Given the description of an element on the screen output the (x, y) to click on. 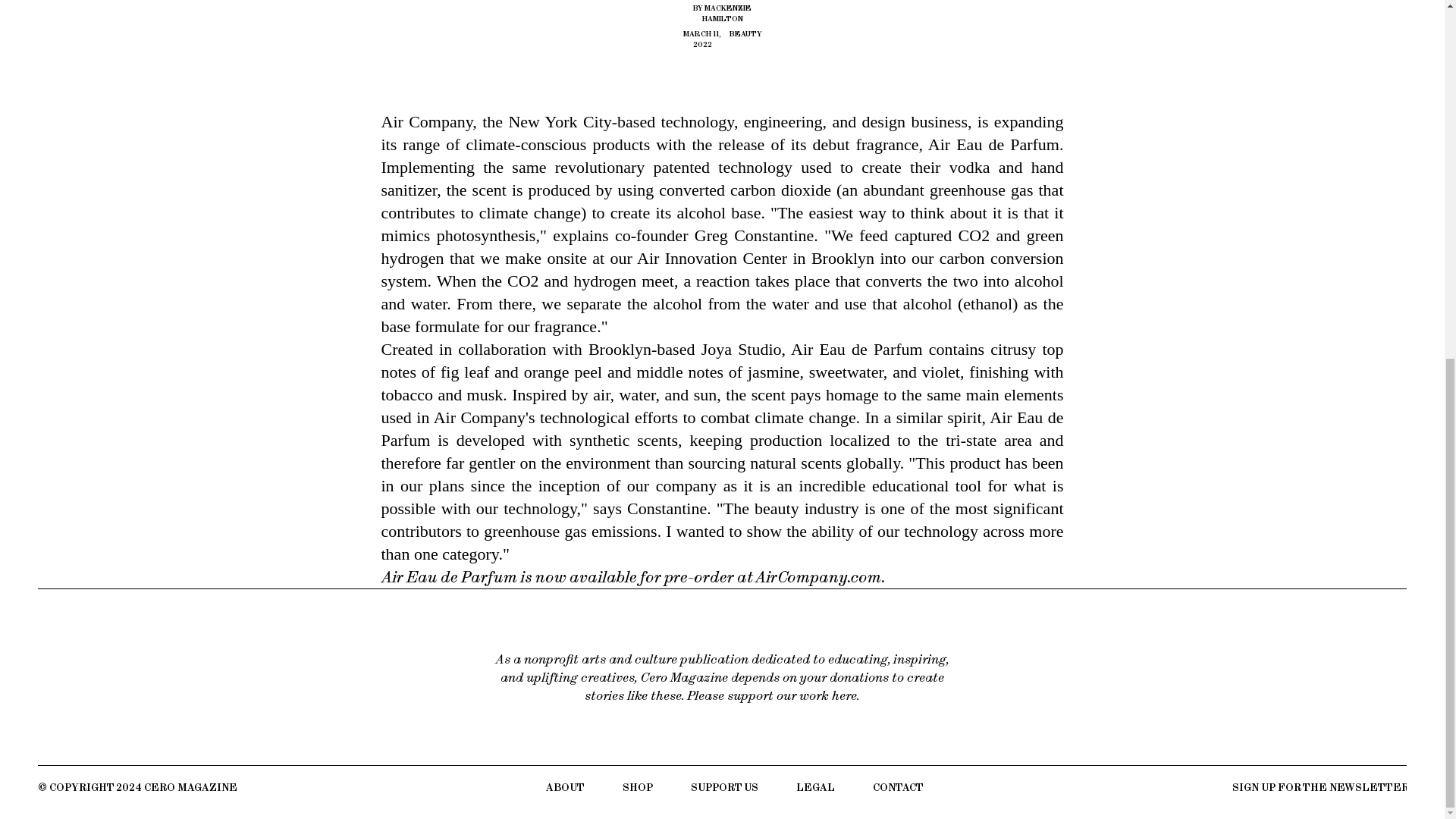
here (844, 695)
SHOP (637, 787)
Air Company (425, 121)
CONTACT (897, 787)
AirCompany.com (818, 576)
Joya Studio (741, 348)
BEAUTY (745, 38)
SUPPORT US (724, 787)
ABOUT (565, 787)
LEGAL (815, 787)
